Given the description of an element on the screen output the (x, y) to click on. 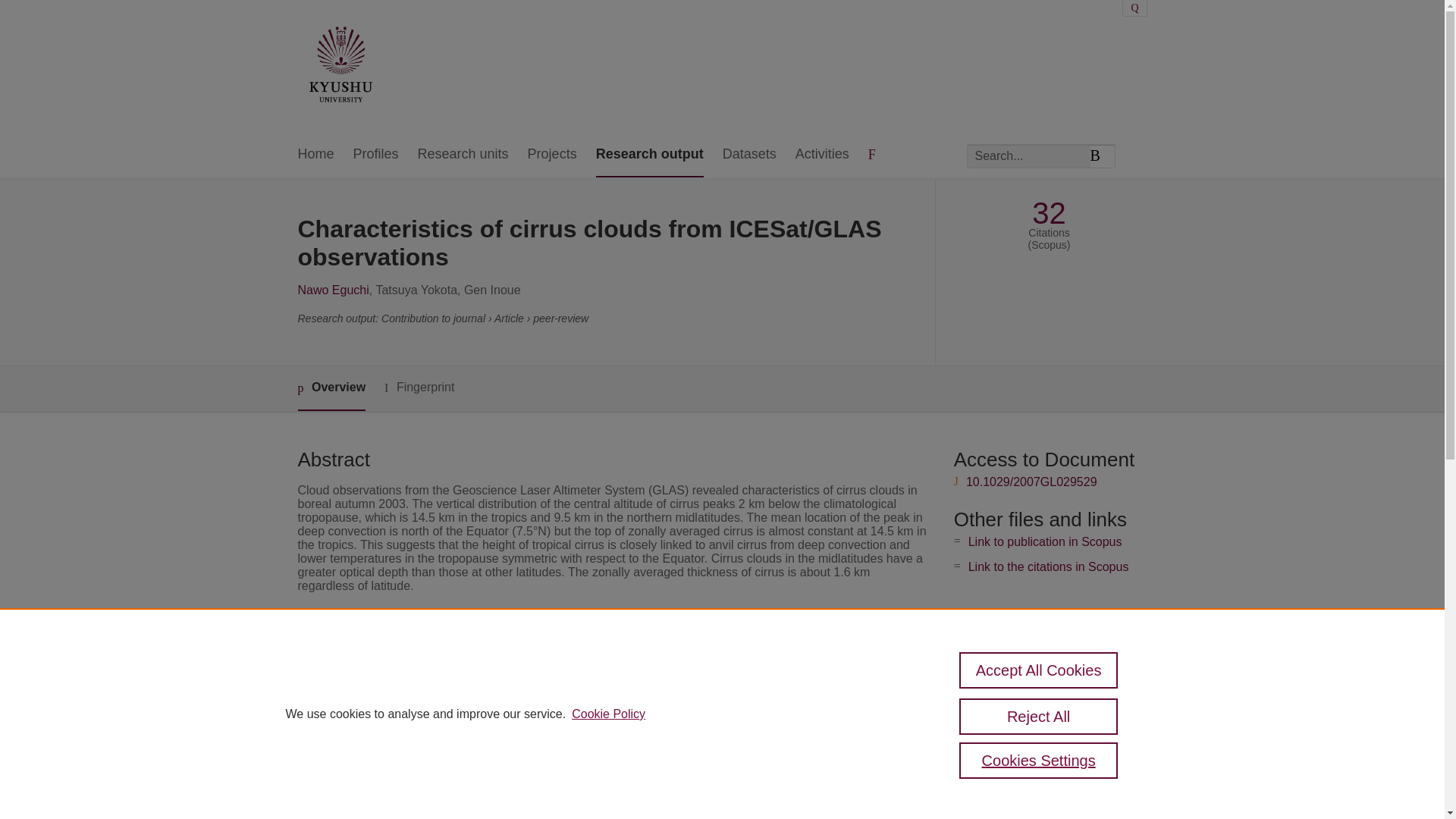
Fingerprint (419, 387)
Profiles (375, 154)
Research units (462, 154)
Geophysical Research Letters (589, 658)
Nawo Eguchi (332, 289)
Overview (331, 388)
Activities (821, 154)
Link to the citations in Scopus (1048, 566)
32 (1048, 212)
Datasets (749, 154)
